Given the description of an element on the screen output the (x, y) to click on. 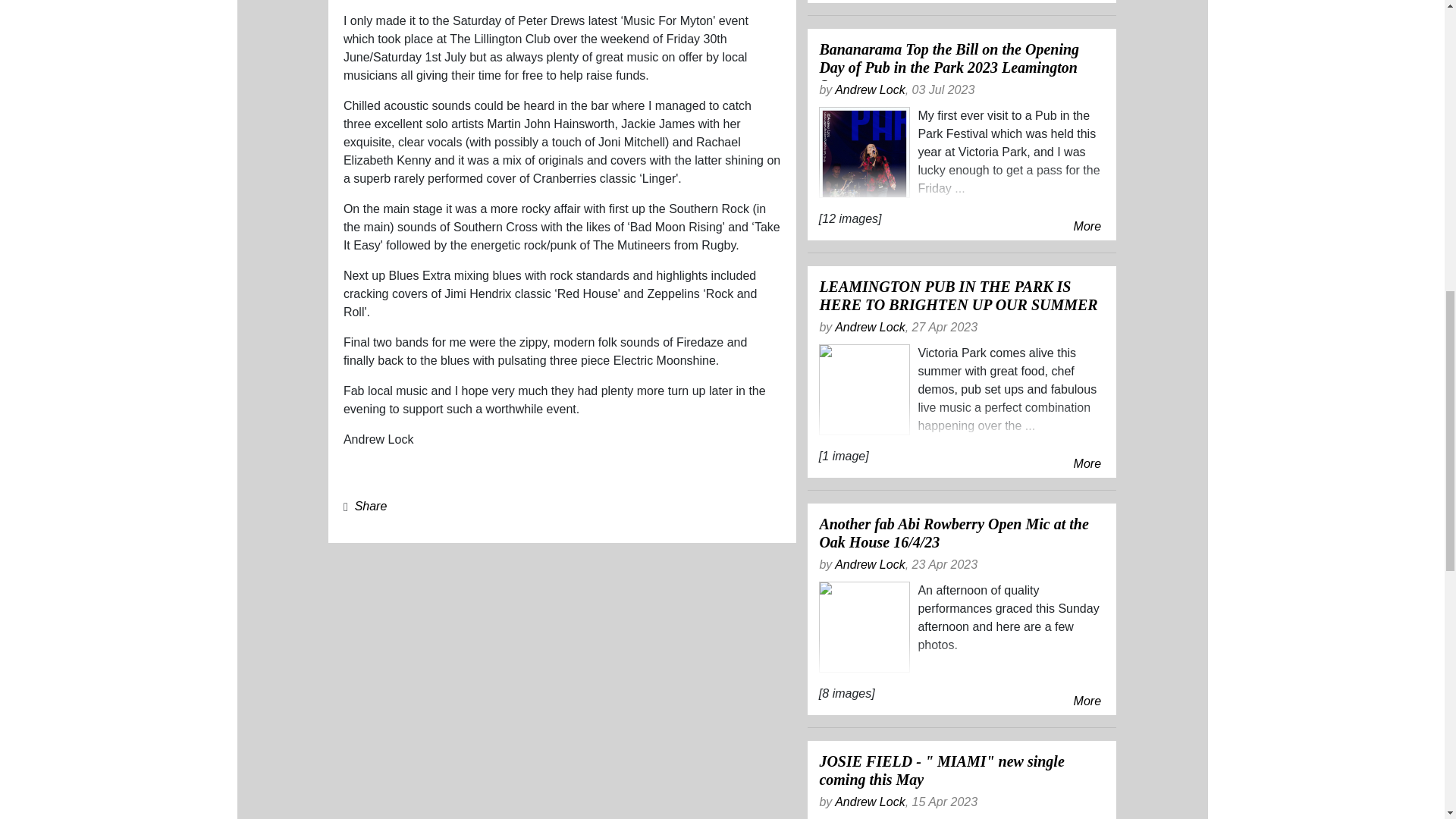
Andrew Lock (869, 327)
Share (371, 505)
Andrew Lock (869, 89)
Show URL and link HTML (371, 505)
Andrew Lock (869, 563)
Andrew Lock (869, 801)
